Given the description of an element on the screen output the (x, y) to click on. 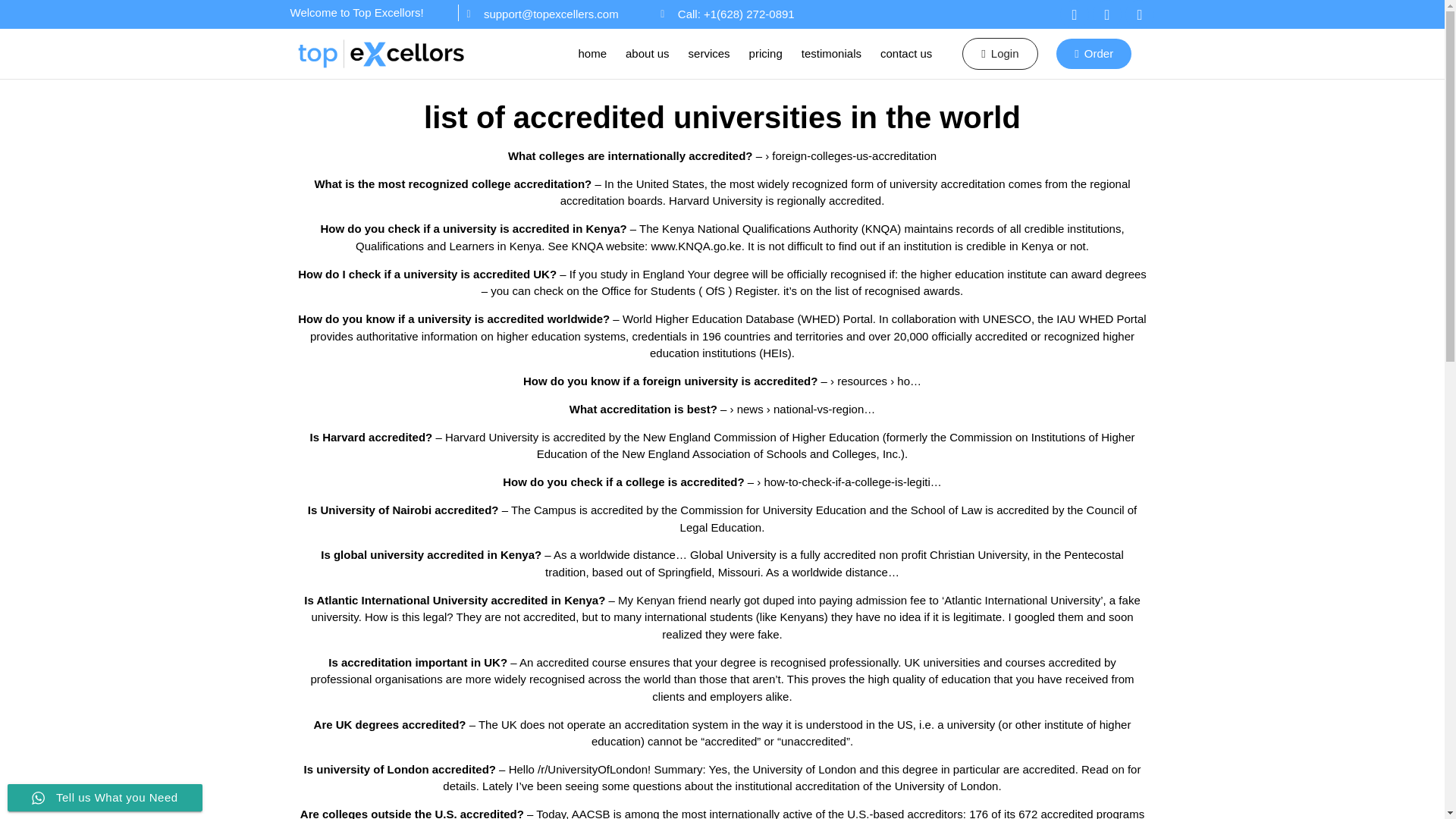
testimonials (831, 53)
Login (999, 53)
Order (1094, 53)
services (708, 53)
about us (647, 53)
home (591, 53)
pricing (765, 53)
contact us (905, 53)
